Given the description of an element on the screen output the (x, y) to click on. 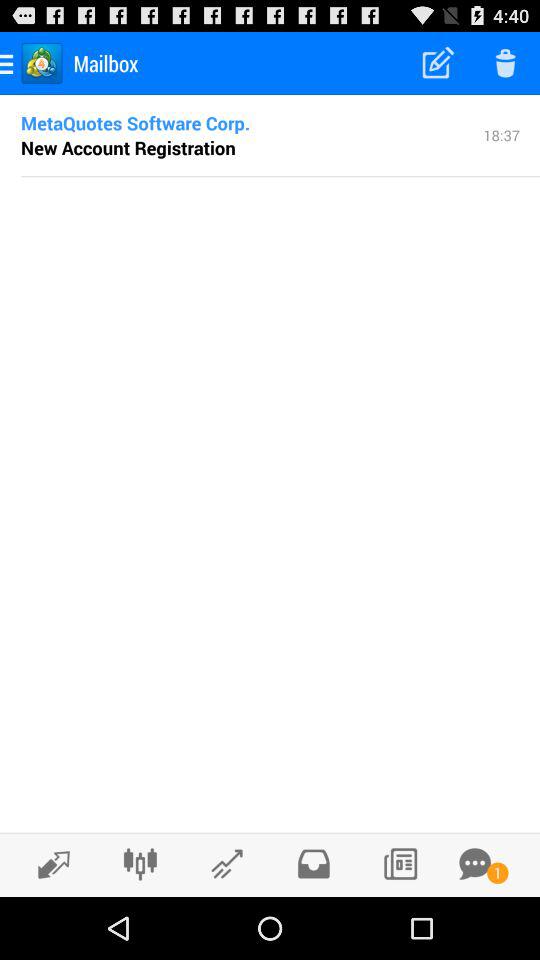
tap the item next to the 18:37 (128, 147)
